Given the description of an element on the screen output the (x, y) to click on. 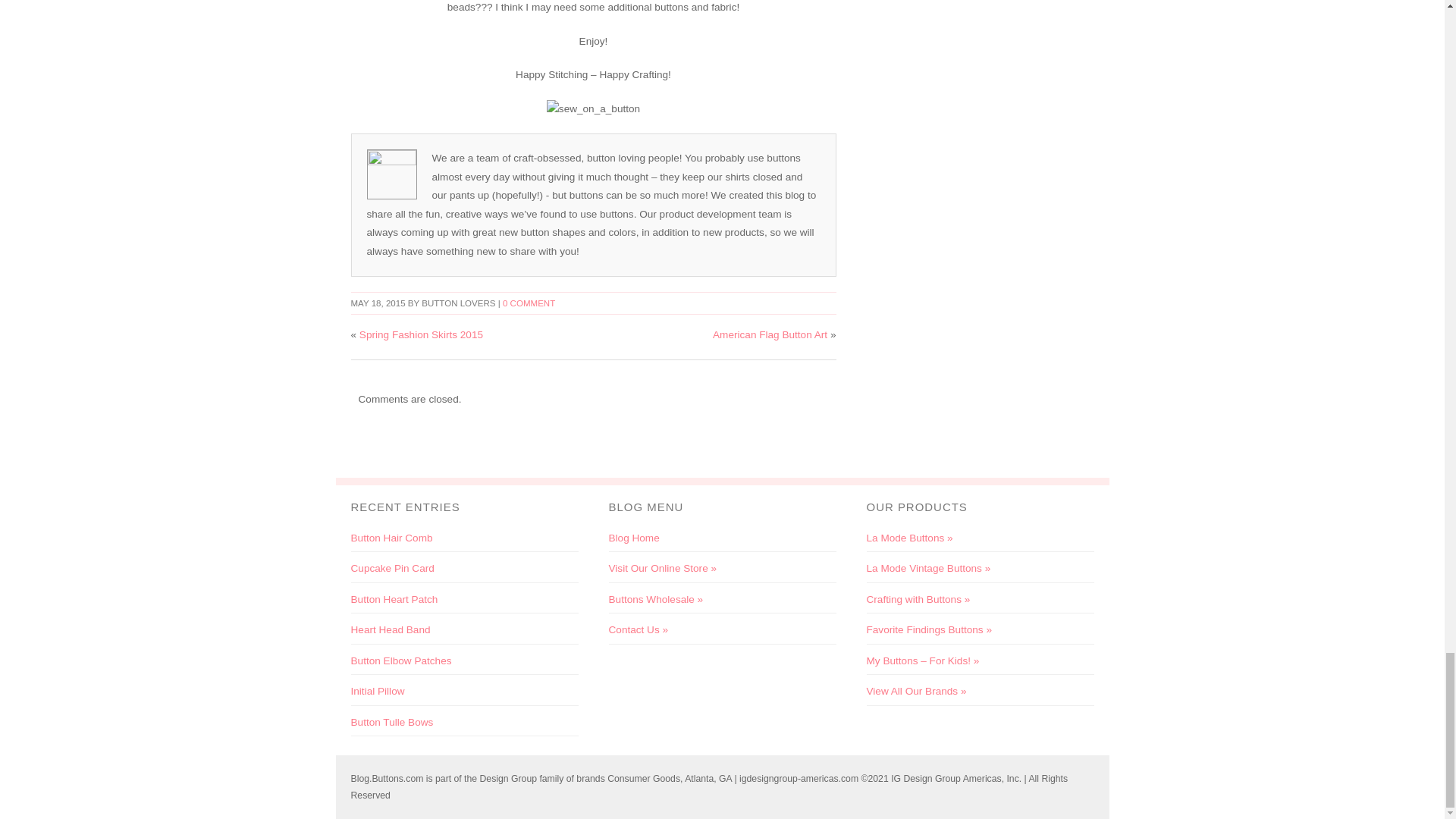
American Flag Button Art (770, 334)
0 COMMENT (528, 302)
Spring Fashion Skirts 2015 (421, 334)
